Given the description of an element on the screen output the (x, y) to click on. 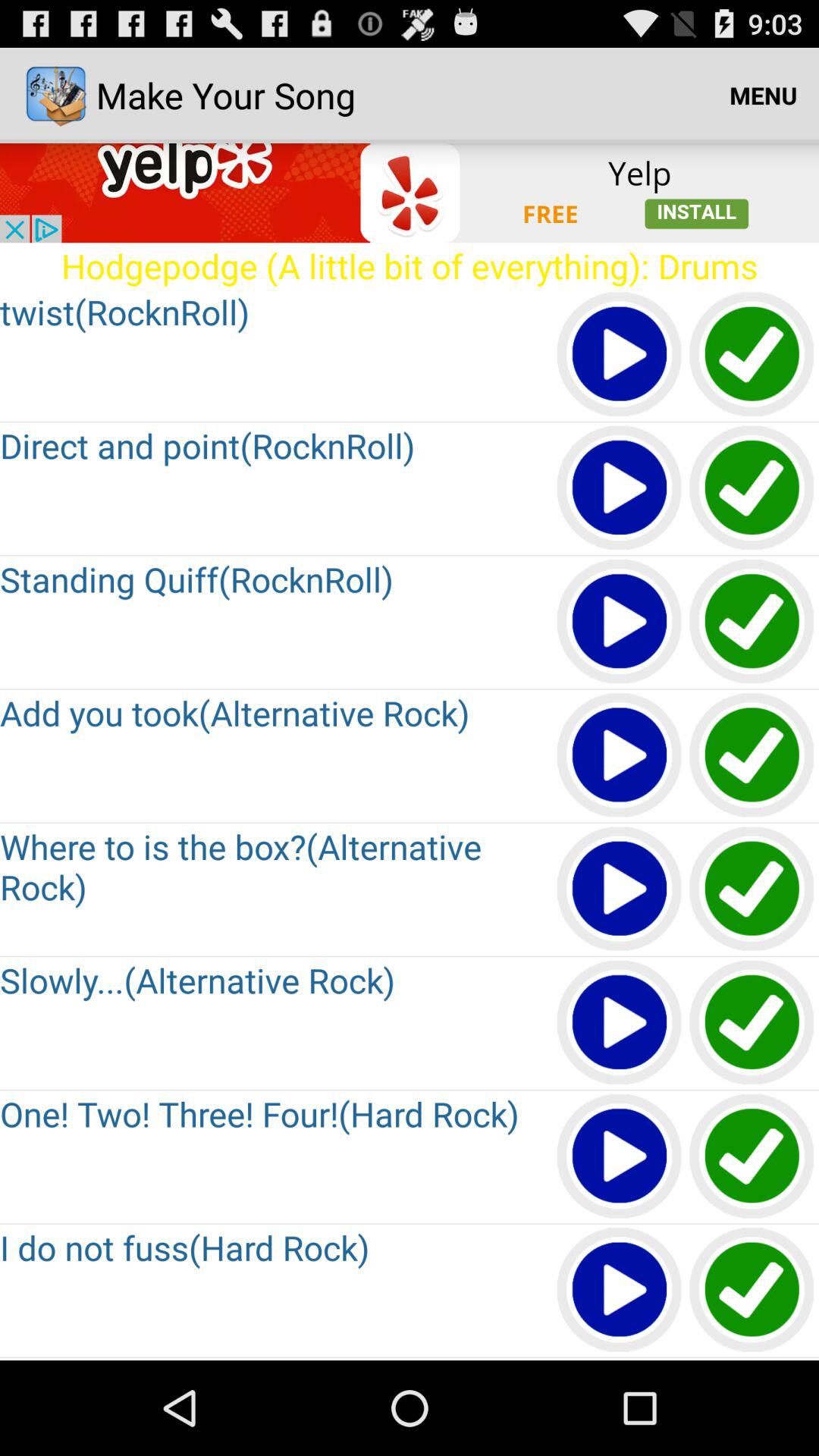
autio paly (619, 889)
